Given the description of an element on the screen output the (x, y) to click on. 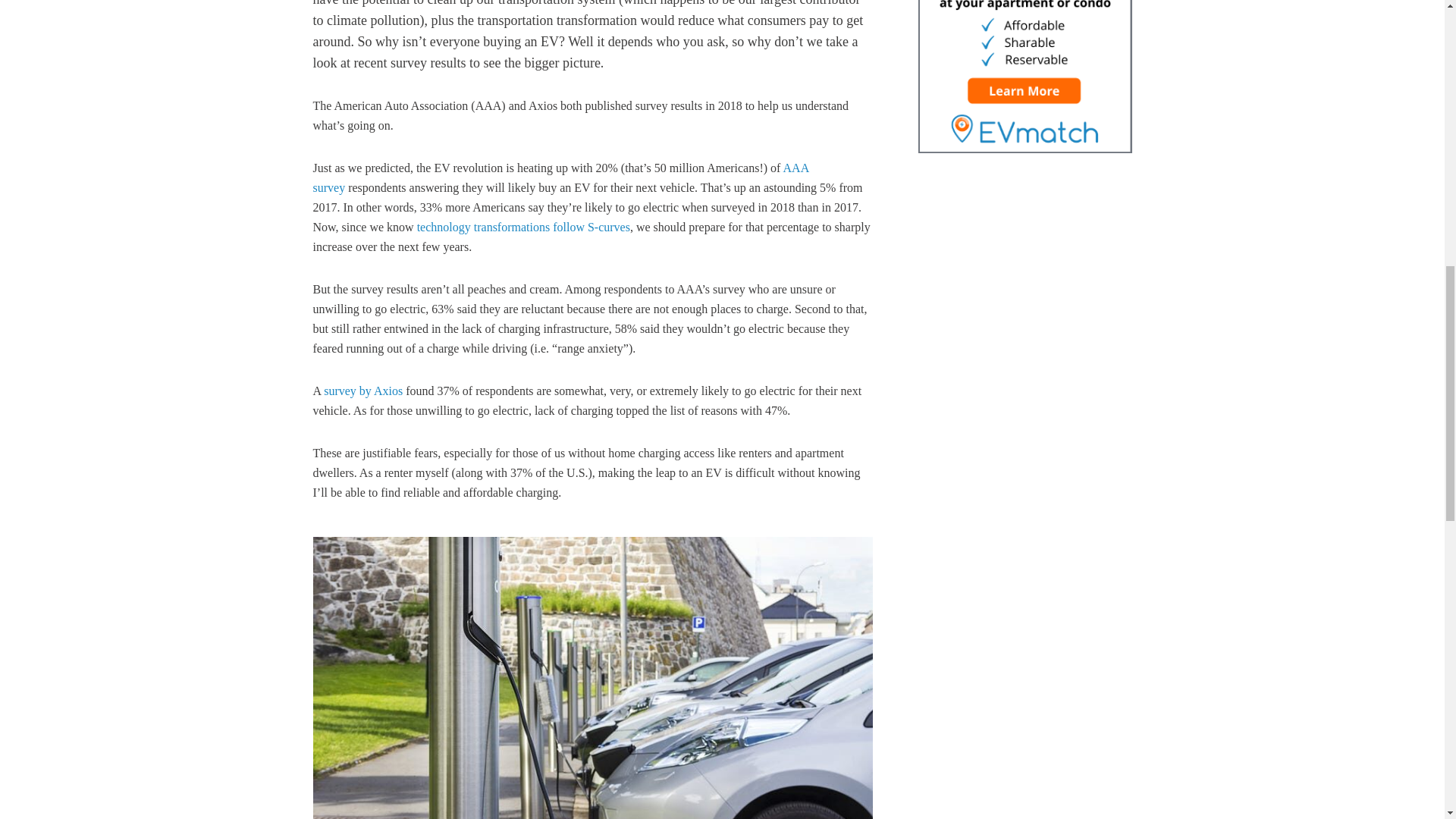
Blog-side-banner-MUDs-2 (1024, 76)
